Given the description of an element on the screen output the (x, y) to click on. 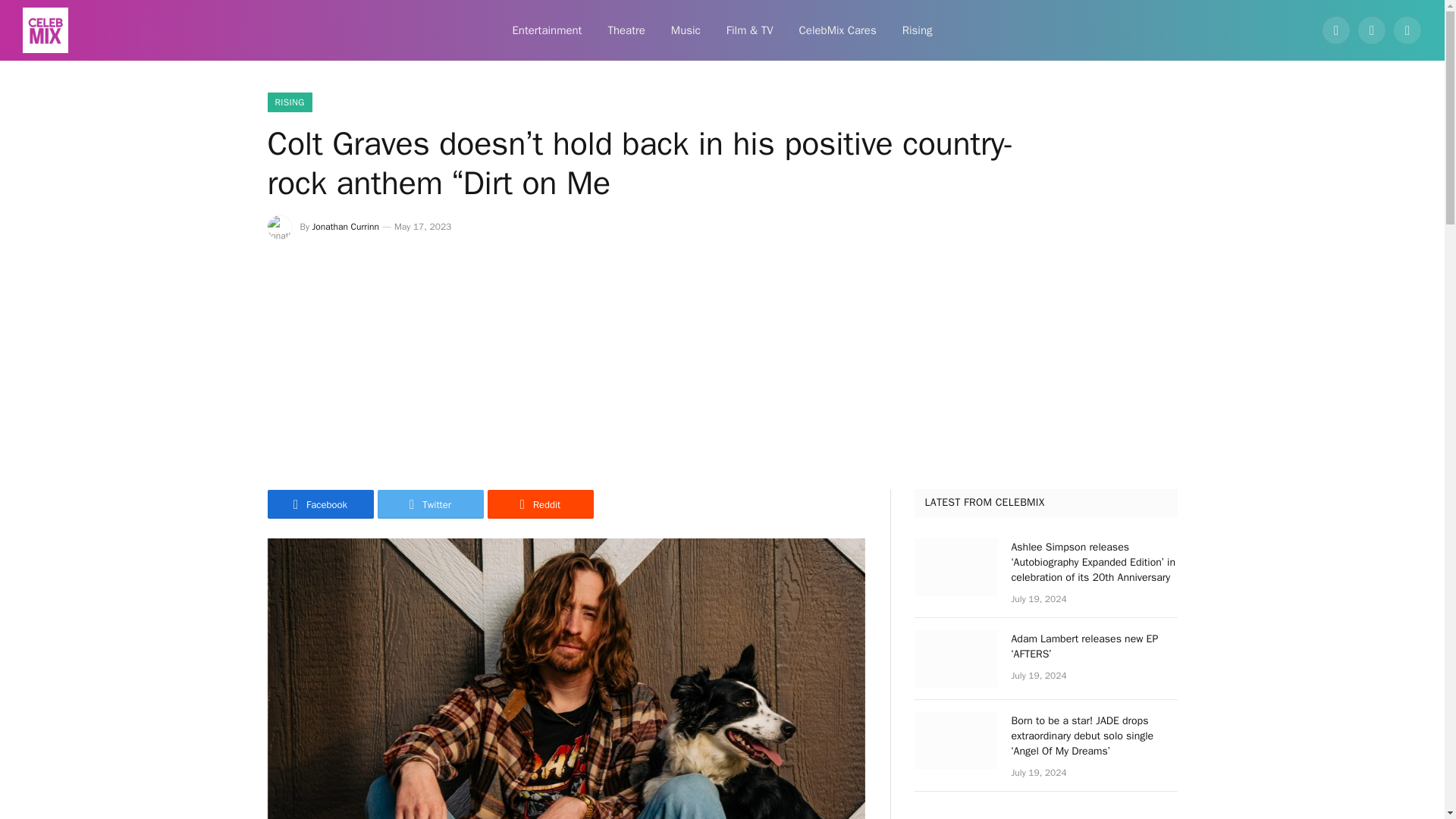
CelebMix Cares (837, 30)
Jonathan Currinn (345, 226)
Twitter (430, 503)
Instagram (1407, 30)
Entertainment (546, 30)
Share on Reddit (539, 503)
Reddit (539, 503)
Share on Facebook (319, 503)
Facebook (319, 503)
Posts by Jonathan Currinn (345, 226)
Theatre (626, 30)
Music (685, 30)
RISING (288, 102)
Facebook (1336, 30)
